Given the description of an element on the screen output the (x, y) to click on. 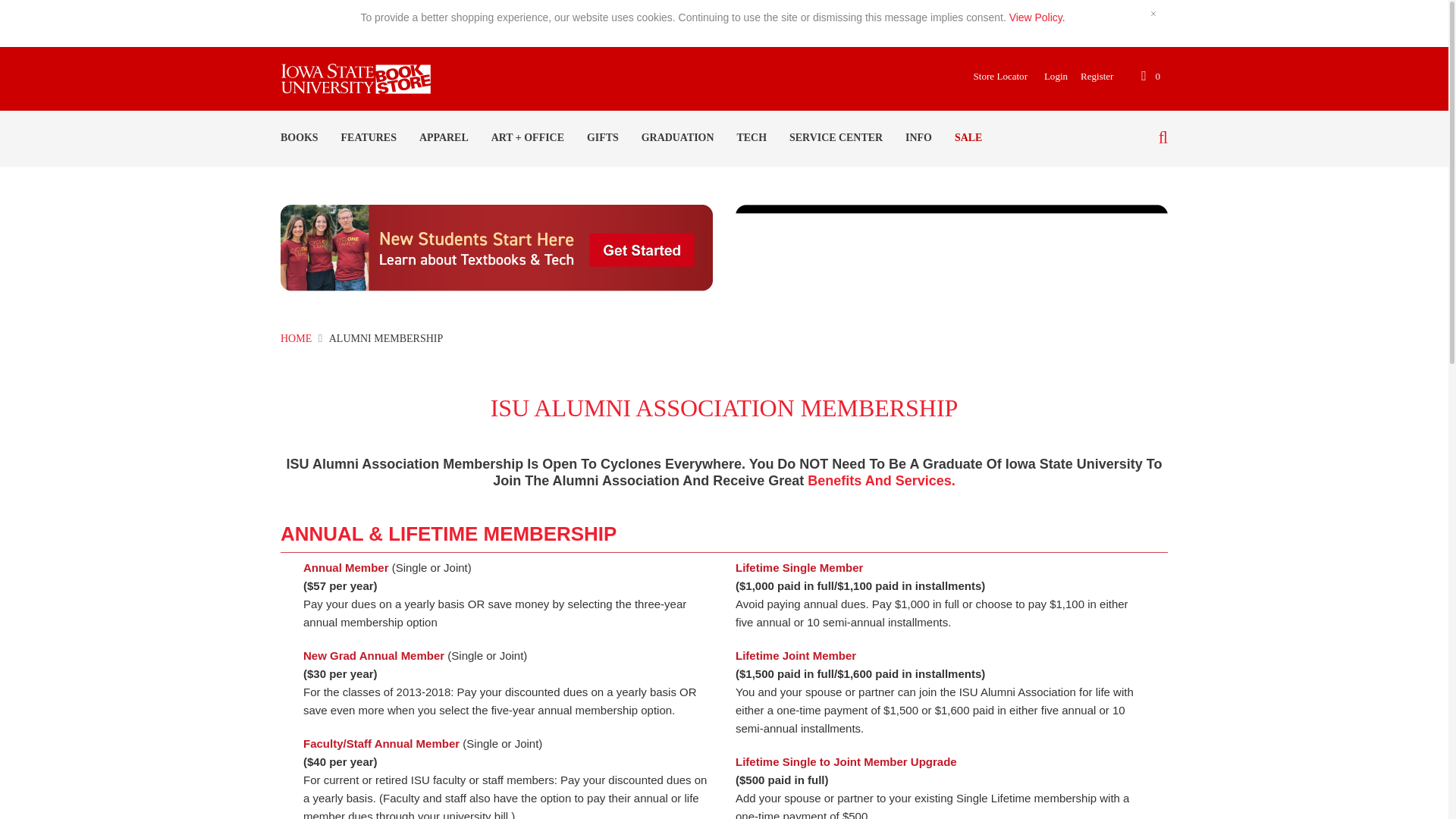
0 (1149, 76)
Cart (1149, 76)
Store Locator (994, 76)
View Policy. (1037, 17)
ISU Book Store (356, 87)
Register (1090, 76)
Login (1049, 76)
FEATURES (368, 137)
BOOKS (299, 137)
Store Locator (994, 76)
